Given the description of an element on the screen output the (x, y) to click on. 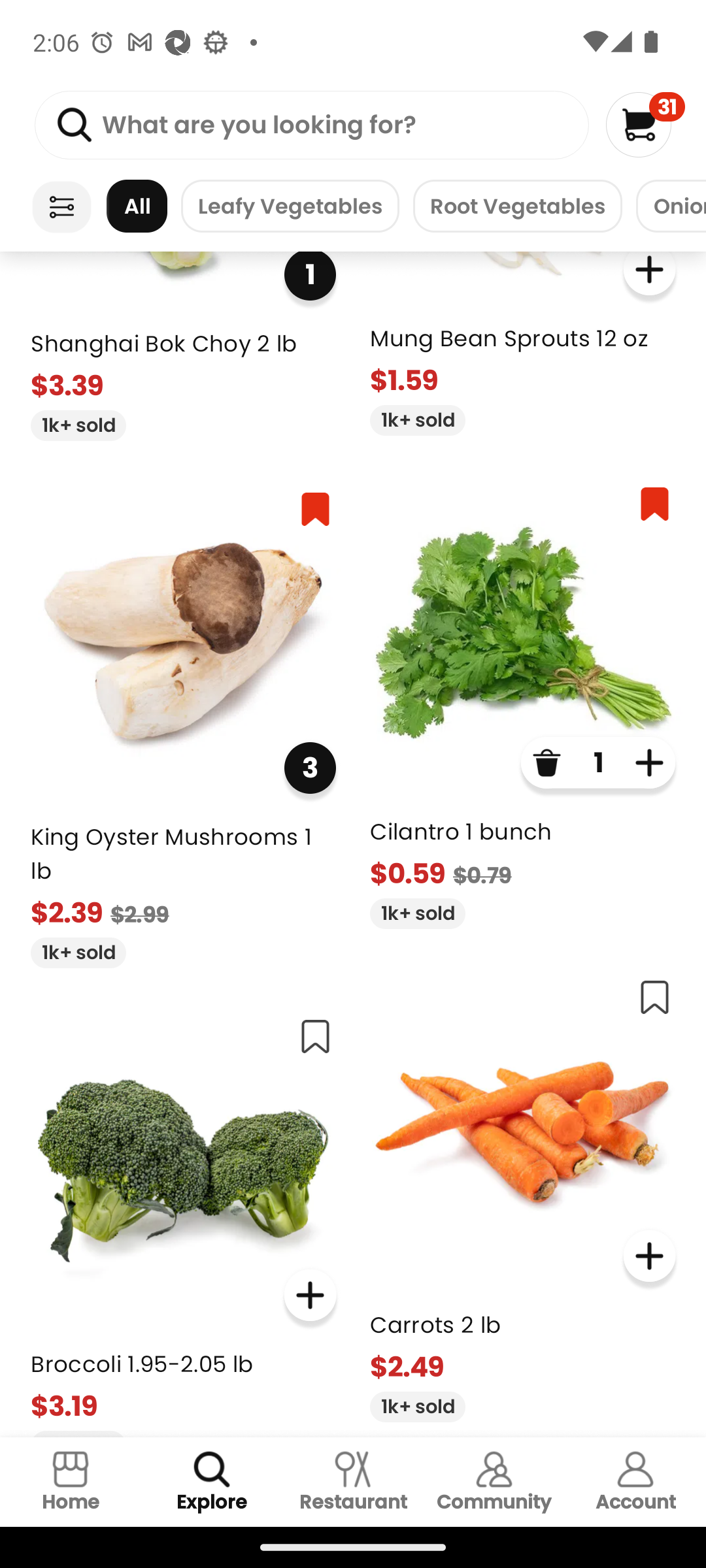
What are you looking for? (311, 124)
31 (644, 124)
All (136, 206)
Leafy Vegetables (289, 206)
Root Vegetables (517, 206)
Onions & Shallots (671, 206)
1 (310, 275)
1 Cilantro 1 bunch $0.59 $0.79 1k+ sold (522, 699)
3 King Oyster Mushrooms 1 lb $2.39 $2.99 1k+ sold (182, 722)
3 (310, 767)
Carrots 2 lb $2.49 1k+ sold (522, 1192)
Broccoli 1.95-2.05 lb $3.19 1k+ sold (182, 1219)
Home (70, 1482)
Explore (211, 1482)
Restaurant (352, 1482)
Community (493, 1482)
Account (635, 1482)
